Given the description of an element on the screen output the (x, y) to click on. 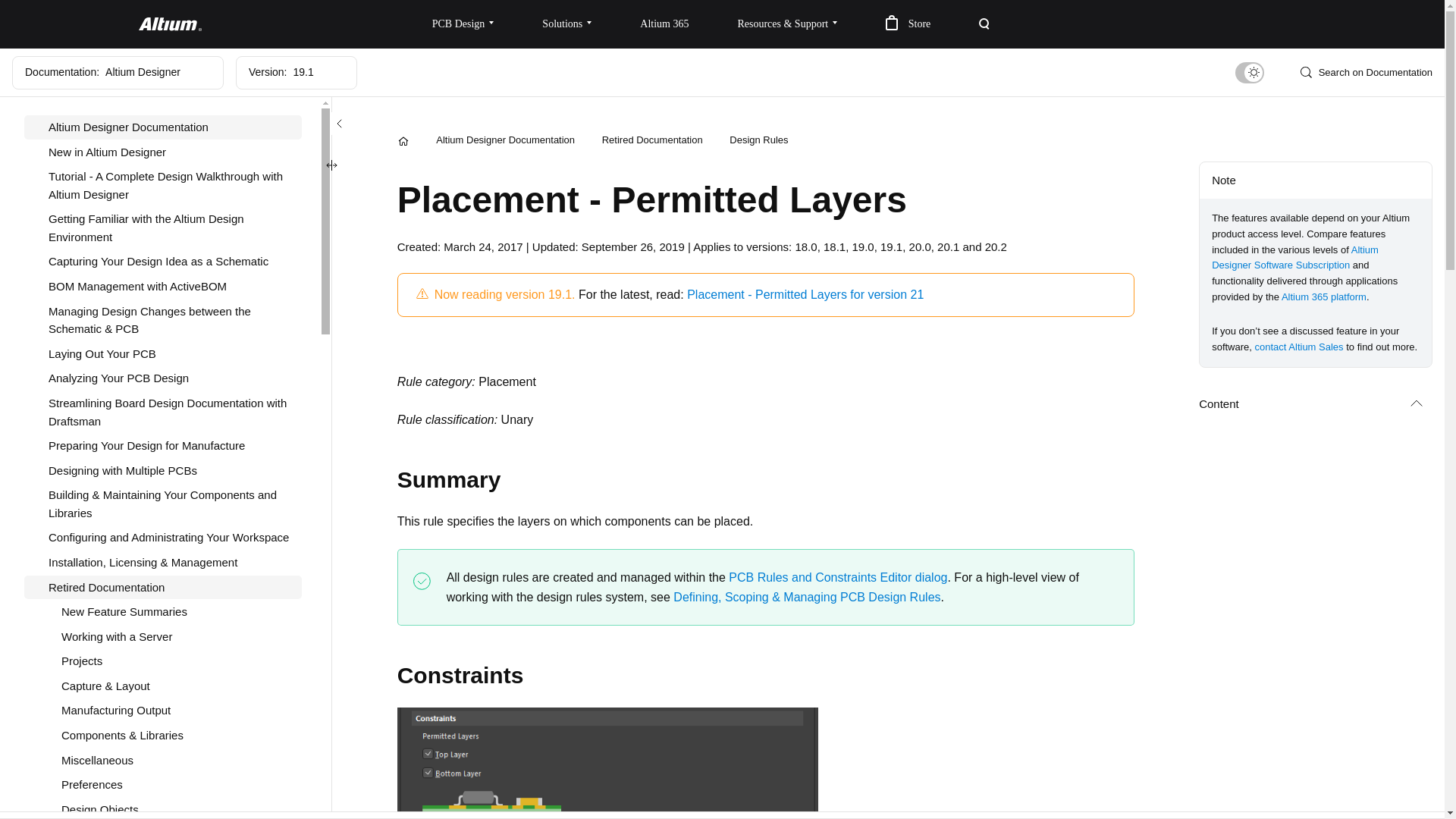
Solutions (566, 24)
Default constraints for the Permitted Layers rule. (607, 763)
PCB Design (462, 24)
Search Open (984, 24)
Altium 365 (664, 24)
Store (908, 24)
